Given the description of an element on the screen output the (x, y) to click on. 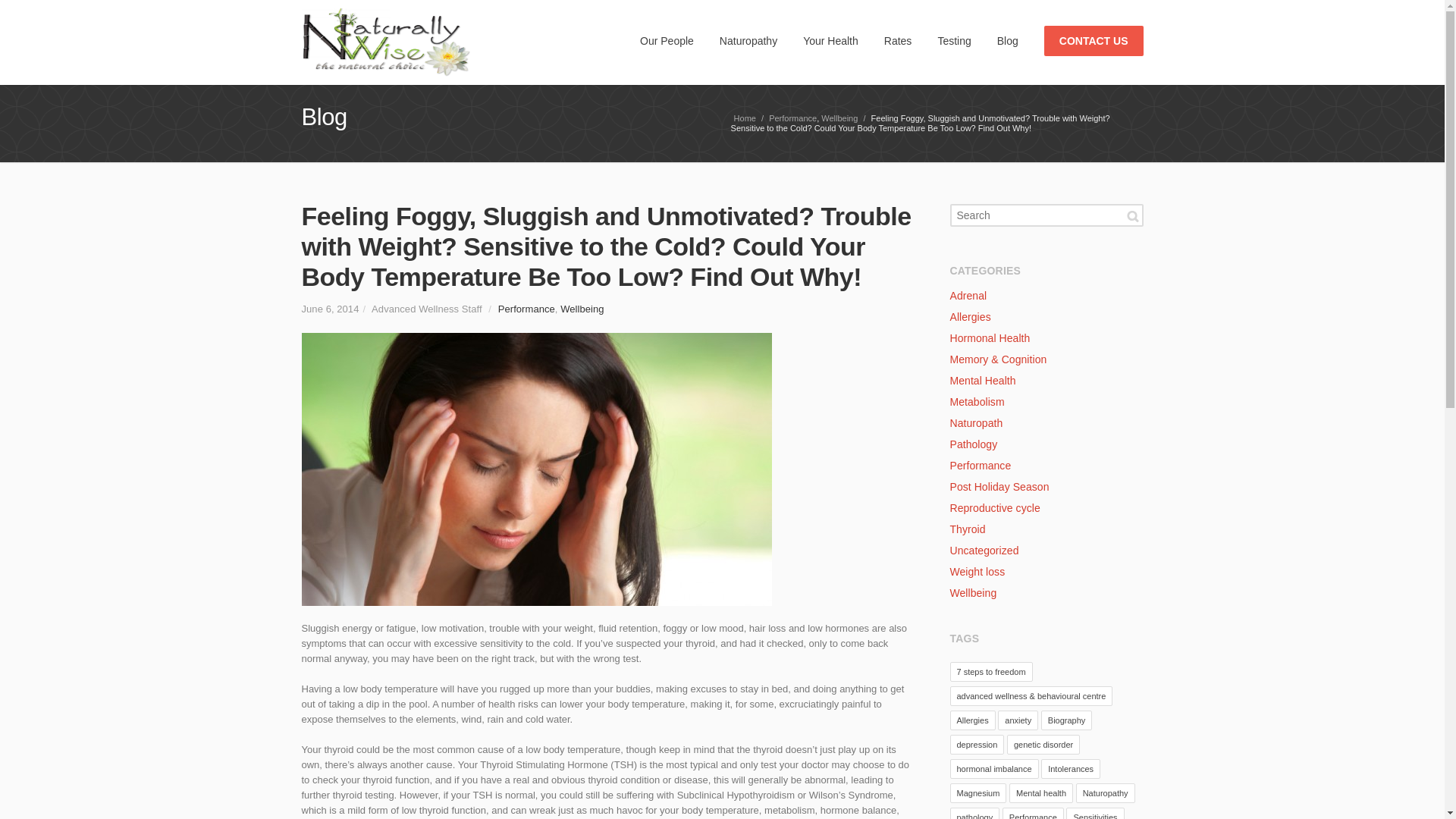
CONTACT US (1092, 42)
Performance (792, 117)
Wellbeing (839, 117)
Hormonal Health (989, 337)
Performance (525, 308)
Adrenal (968, 295)
Home (744, 117)
SEARCH (1132, 216)
Allergies (970, 316)
Wellbeing (582, 308)
